Given the description of an element on the screen output the (x, y) to click on. 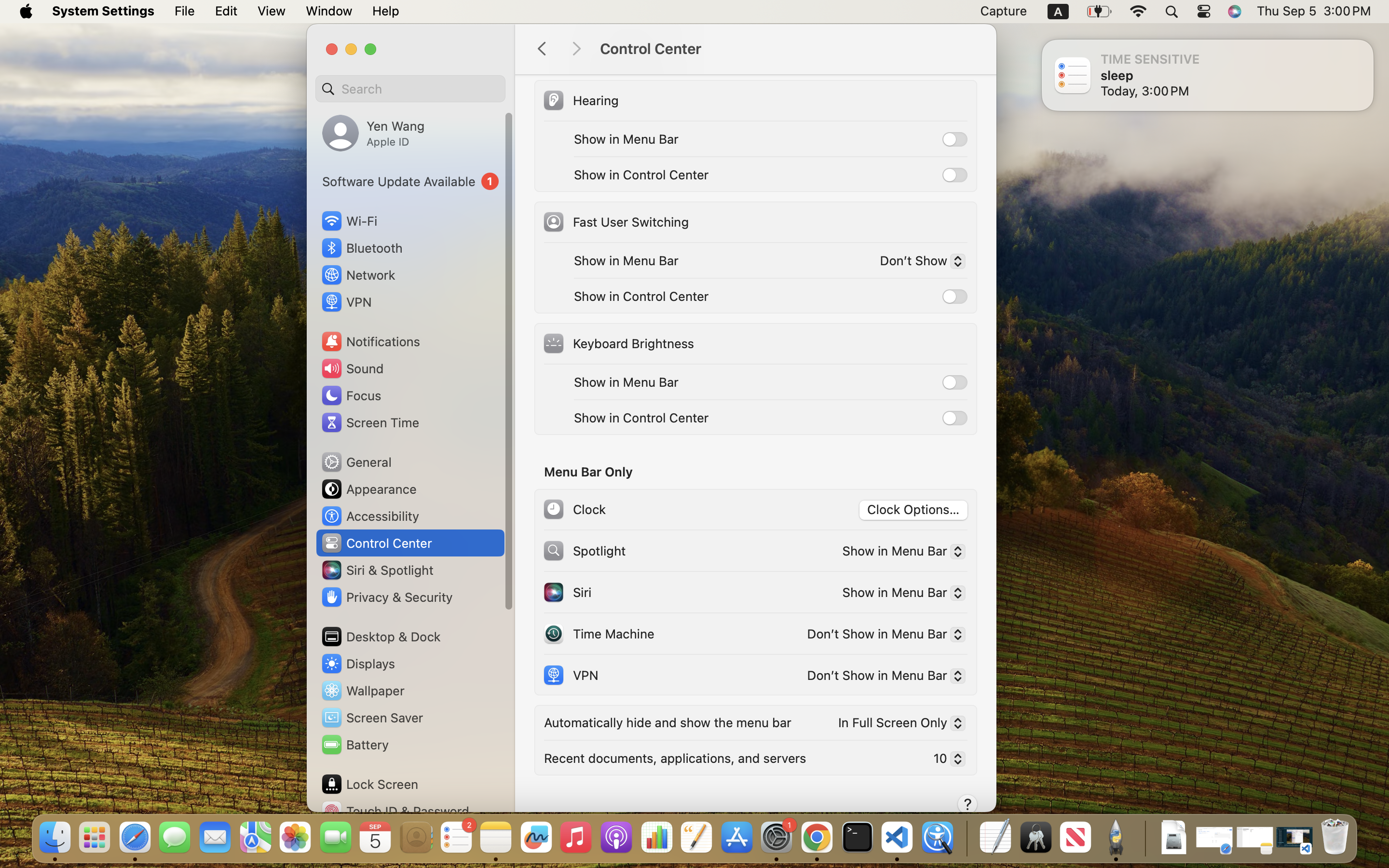
0.4285714328289032 Element type: AXDockItem (965, 837)
Control Center Element type: AXStaticText (788, 49)
Time Machine Element type: AXStaticText (597, 633)
Automatically hide and show the menu bar Element type: AXStaticText (667, 722)
